Given the description of an element on the screen output the (x, y) to click on. 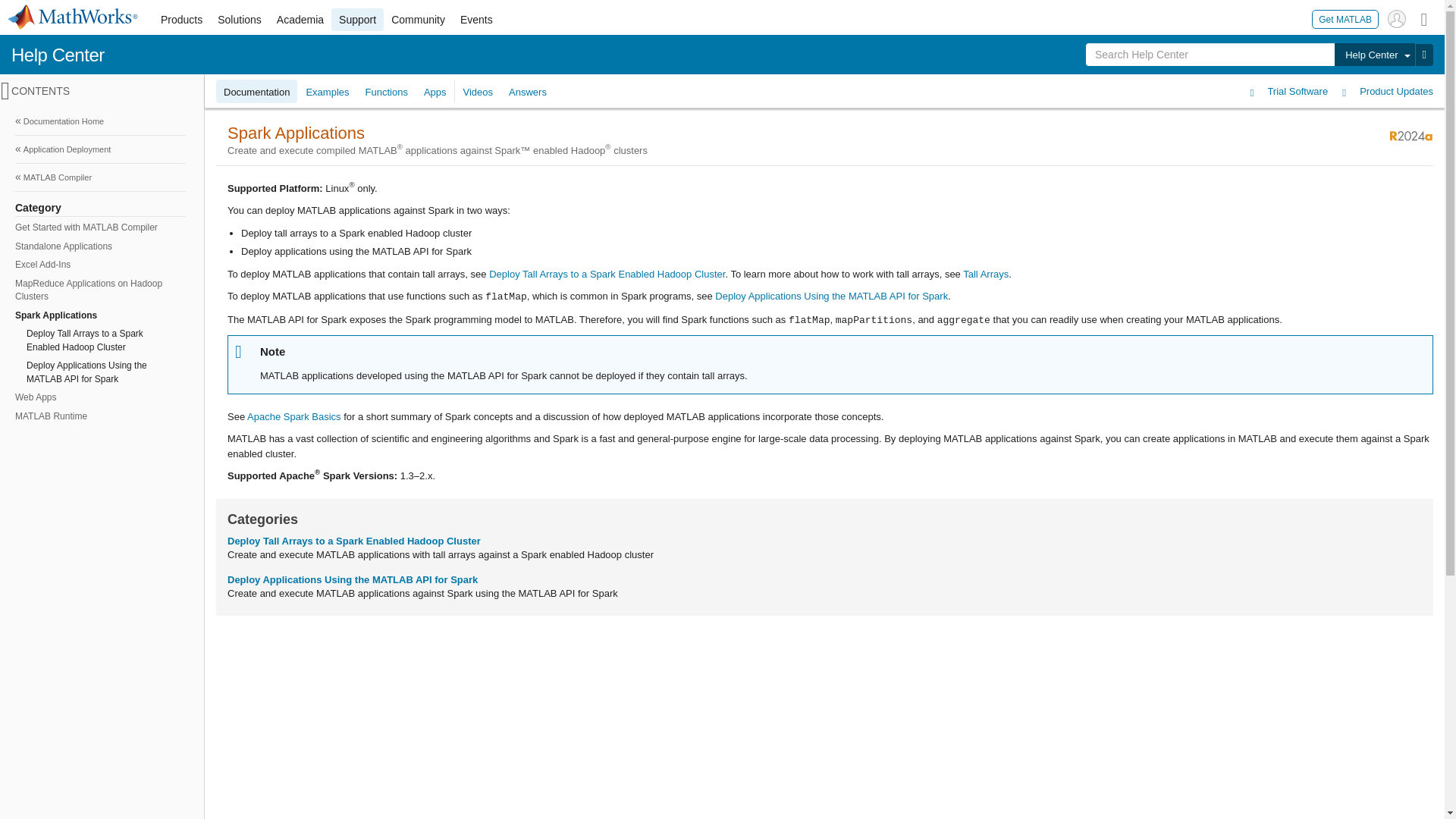
Community (418, 19)
Get Started with MATLAB Compiler (98, 227)
Documentation Home (100, 121)
Help Center (1374, 54)
Products (180, 19)
MATLAB Compiler (100, 176)
Solutions (239, 19)
Academia (300, 19)
Help Center (57, 54)
Standalone Applications (98, 246)
Support (357, 19)
Events (476, 19)
Application Deployment (100, 149)
Matrix Menu (1423, 18)
Sign In to Your MathWorks Account (1396, 18)
